Given the description of an element on the screen output the (x, y) to click on. 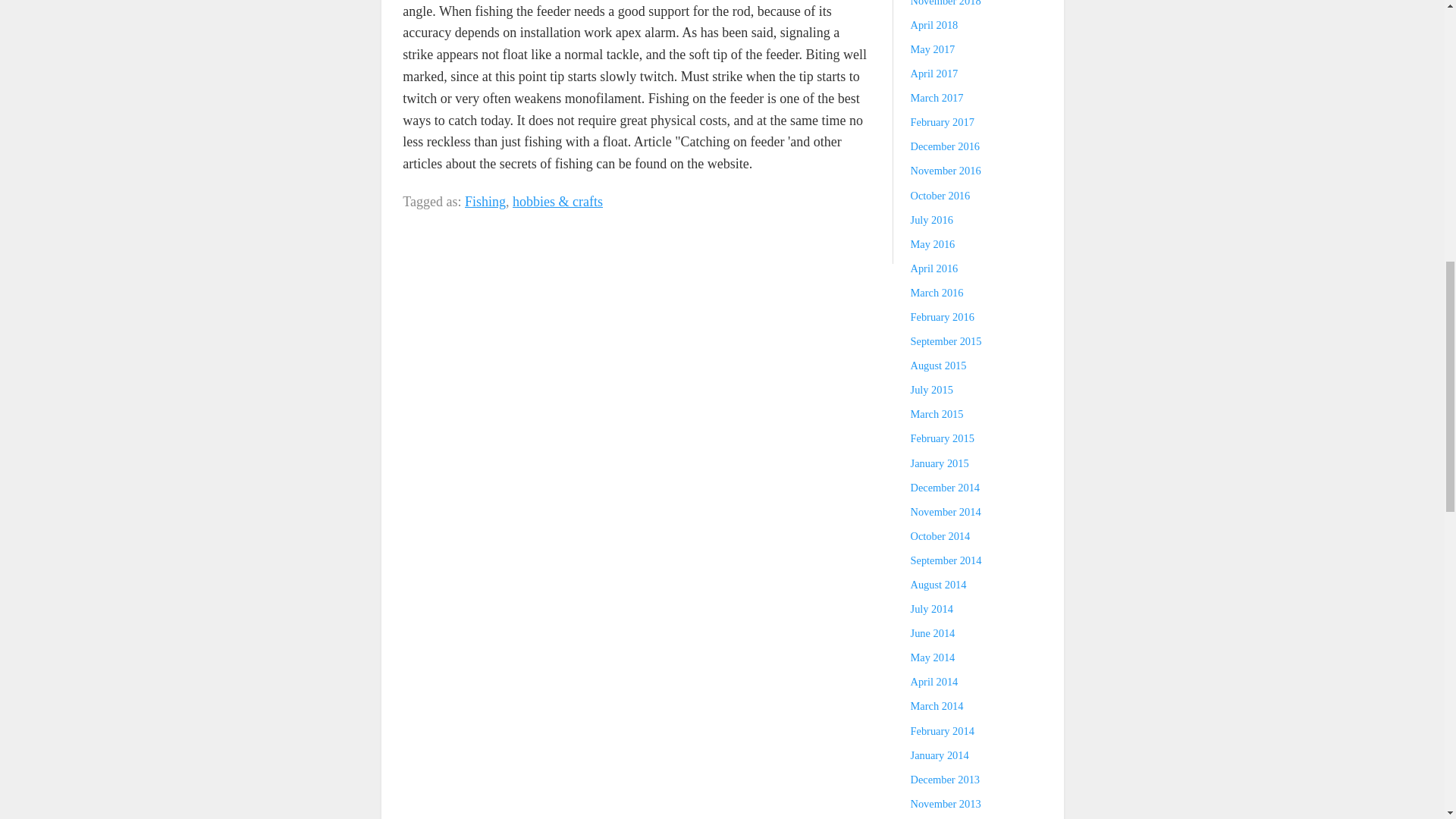
May 2016 (933, 244)
December 2016 (945, 146)
April 2017 (934, 73)
November 2018 (946, 3)
April 2016 (934, 268)
July 2016 (932, 219)
Fishing (484, 201)
May 2017 (933, 49)
February 2017 (942, 121)
October 2016 (941, 195)
